Given the description of an element on the screen output the (x, y) to click on. 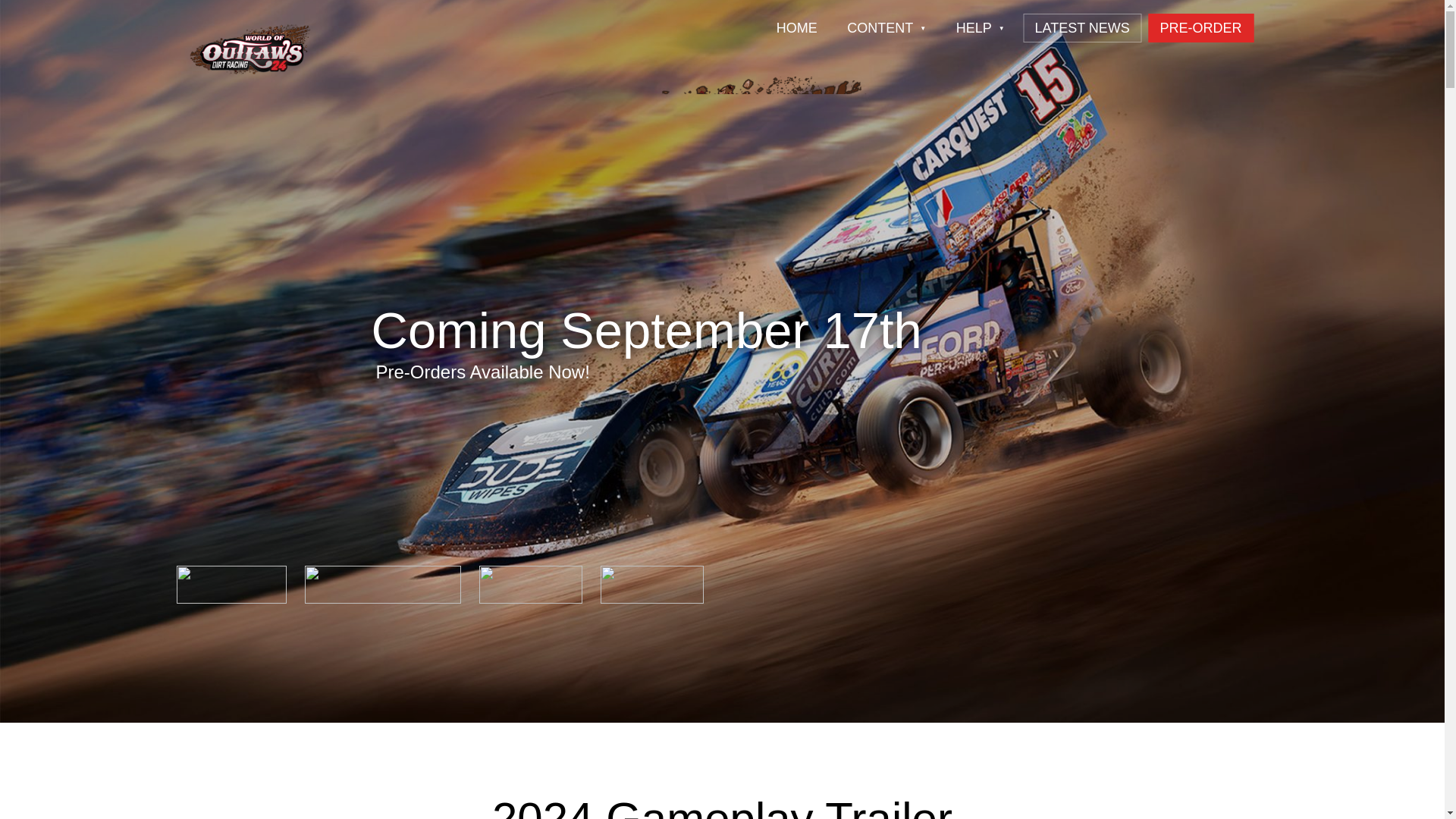
LATEST NEWS (1081, 27)
PRE-ORDER (1200, 27)
HOME (796, 27)
HELP (980, 27)
CONTENT (886, 27)
